Given the description of an element on the screen output the (x, y) to click on. 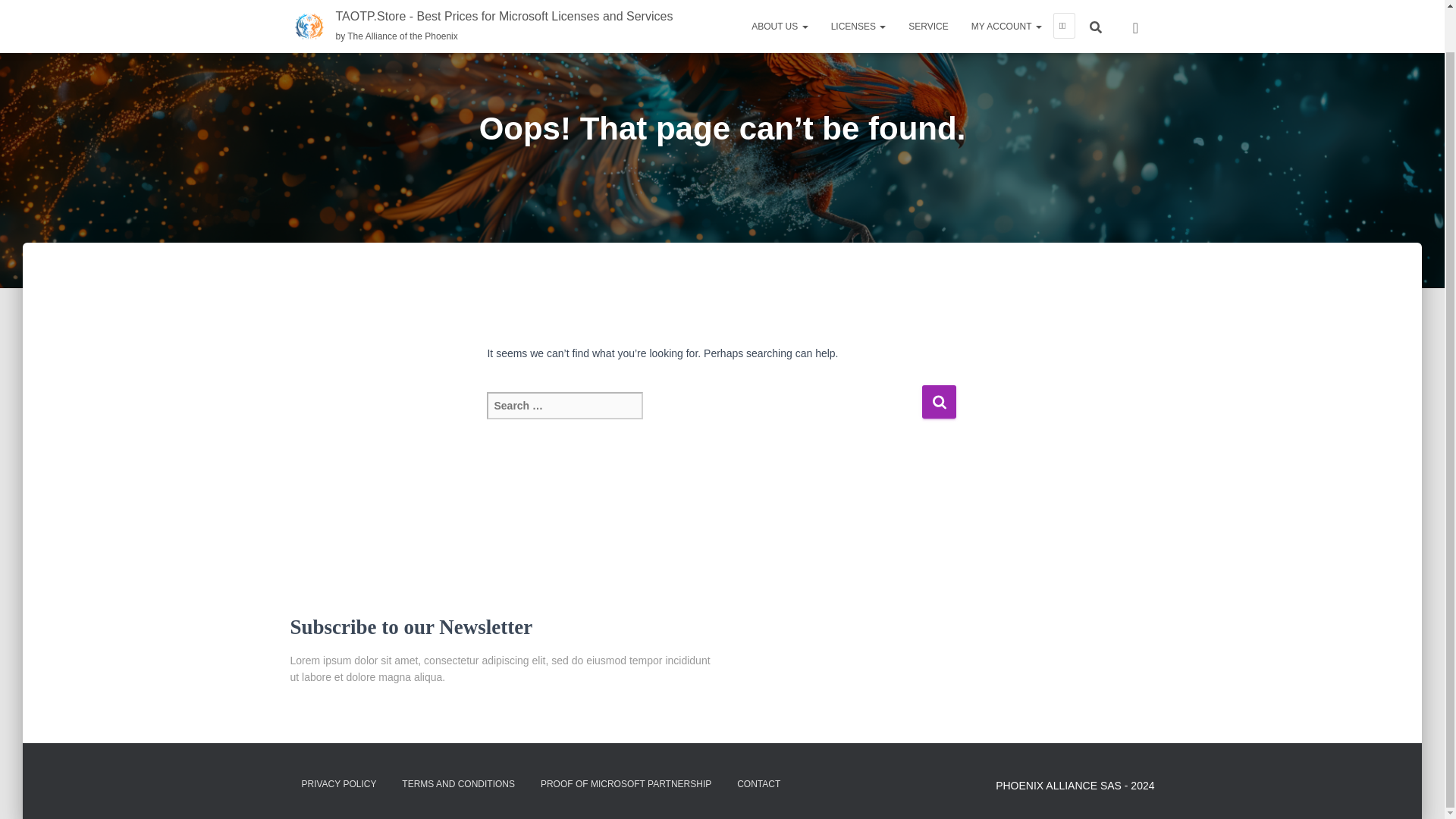
TERMS AND CONDITIONS (457, 784)
Service (927, 0)
SERVICE (927, 0)
PROOF OF MICROSOFT PARTNERSHIP (625, 784)
CONTACT (758, 784)
PRIVACY POLICY (338, 784)
